Given the description of an element on the screen output the (x, y) to click on. 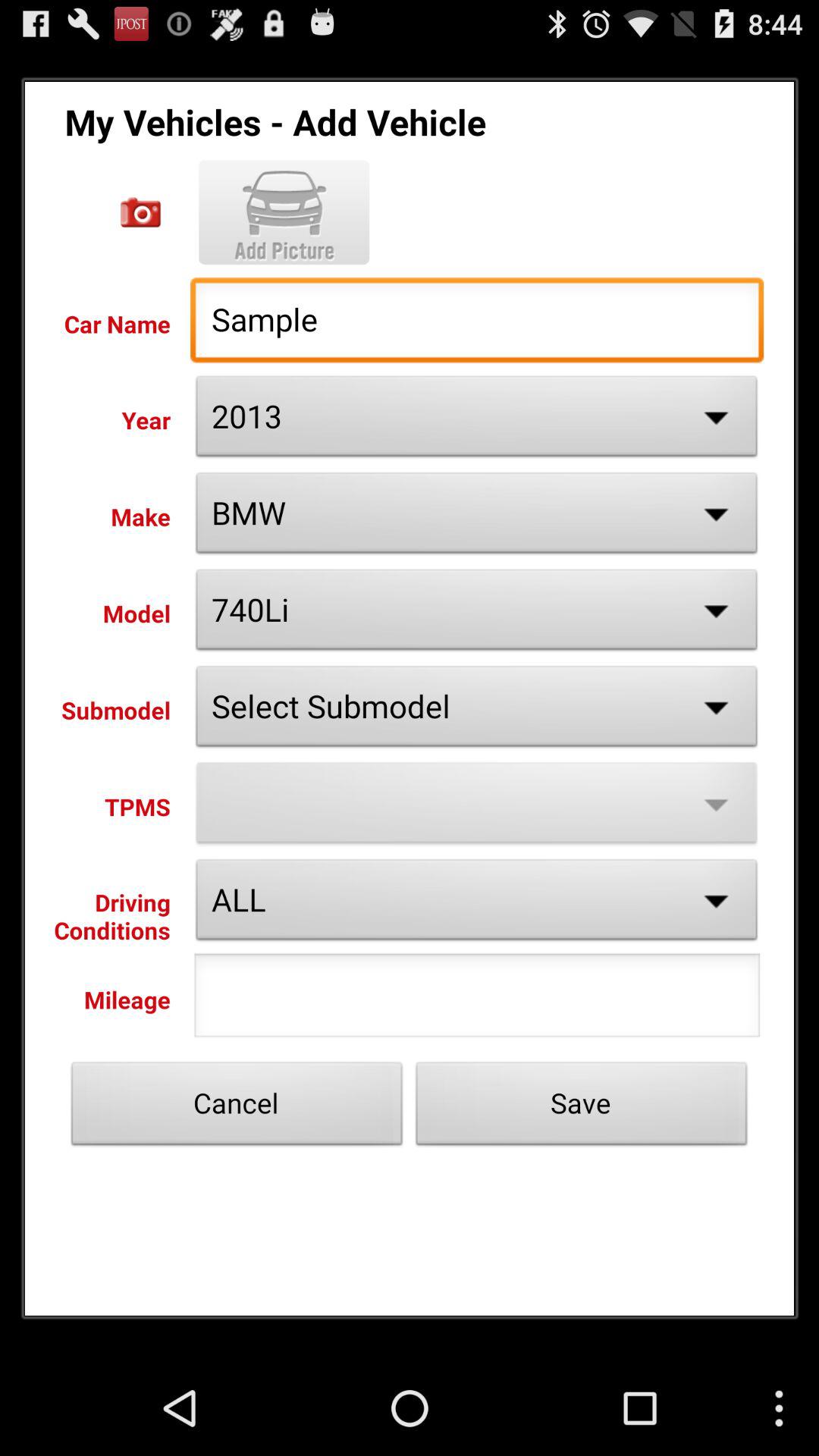
enter maximum mileage (476, 999)
